Given the description of an element on the screen output the (x, y) to click on. 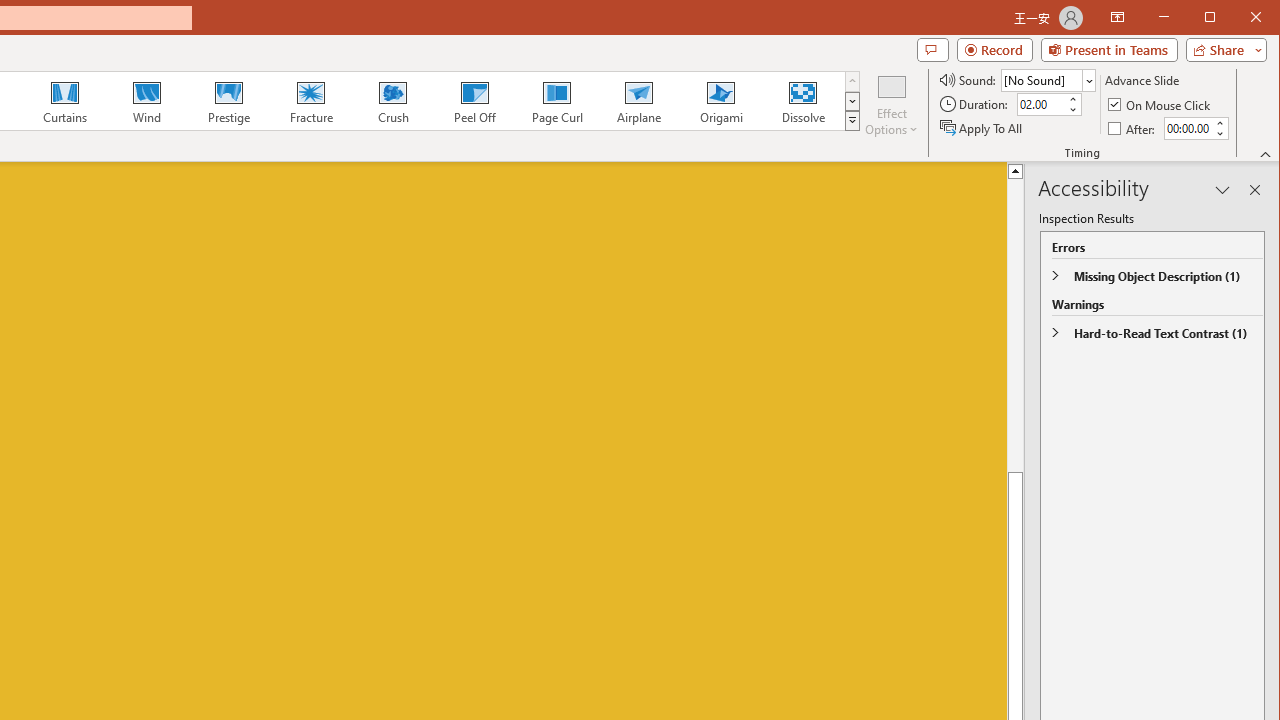
Airplane (638, 100)
Crush (392, 100)
Transition Effects (852, 120)
Maximize (1238, 18)
Dissolve (802, 100)
After (1187, 128)
Curtains (65, 100)
Origami (720, 100)
Effect Options (891, 104)
